Given the description of an element on the screen output the (x, y) to click on. 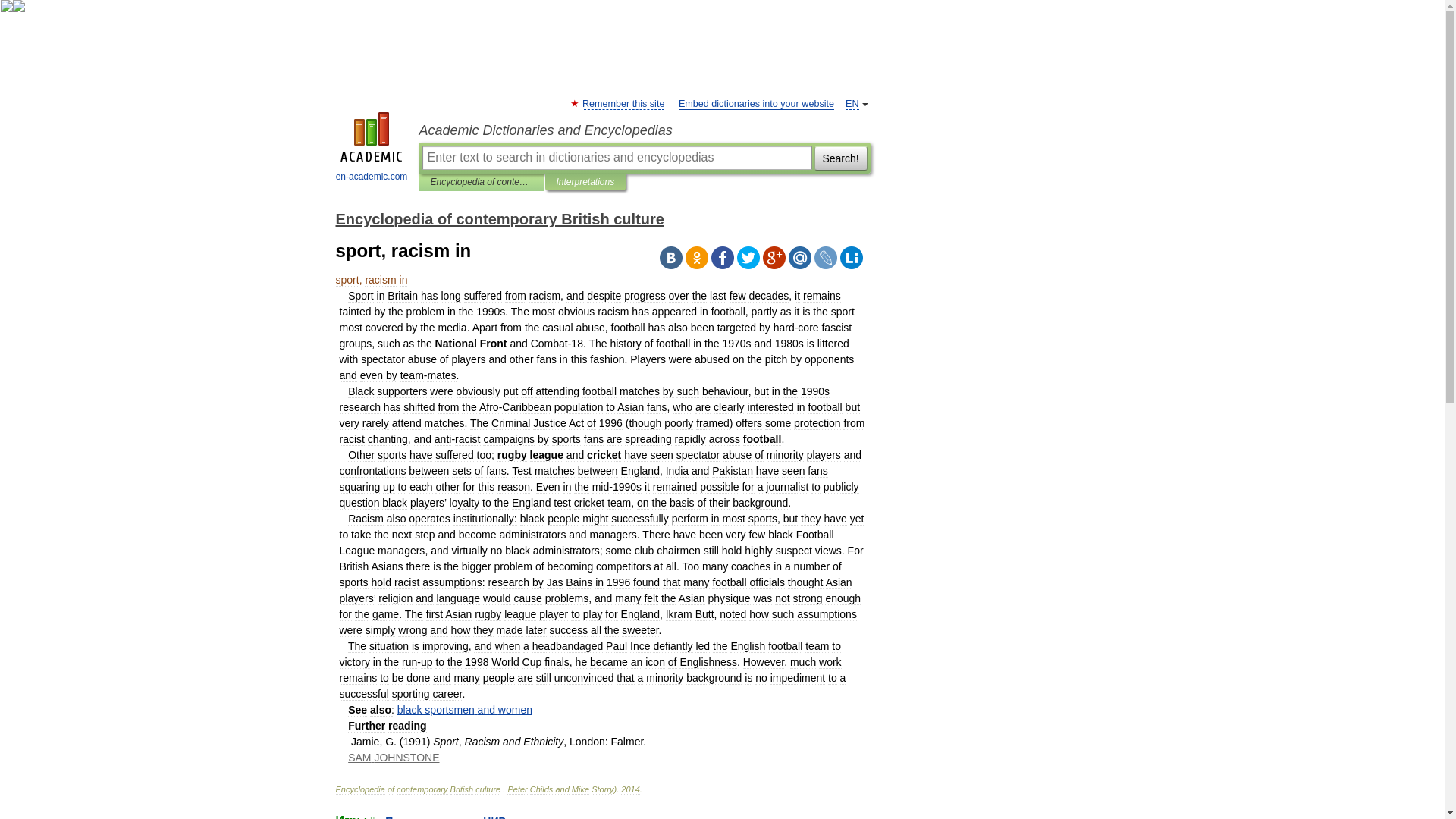
Interpretations (585, 181)
en-academic.com (371, 148)
Enter text to search in dictionaries and encyclopedias (616, 157)
Encyclopedia of contemporary British culture (498, 218)
Encyclopedia of contemporary British culture (481, 181)
Search! (840, 157)
Remember this site (623, 103)
Academic Dictionaries and Encyclopedias (644, 130)
EN (852, 103)
Embed dictionaries into your website (756, 103)
black sportsmen and women (464, 709)
